Given the description of an element on the screen output the (x, y) to click on. 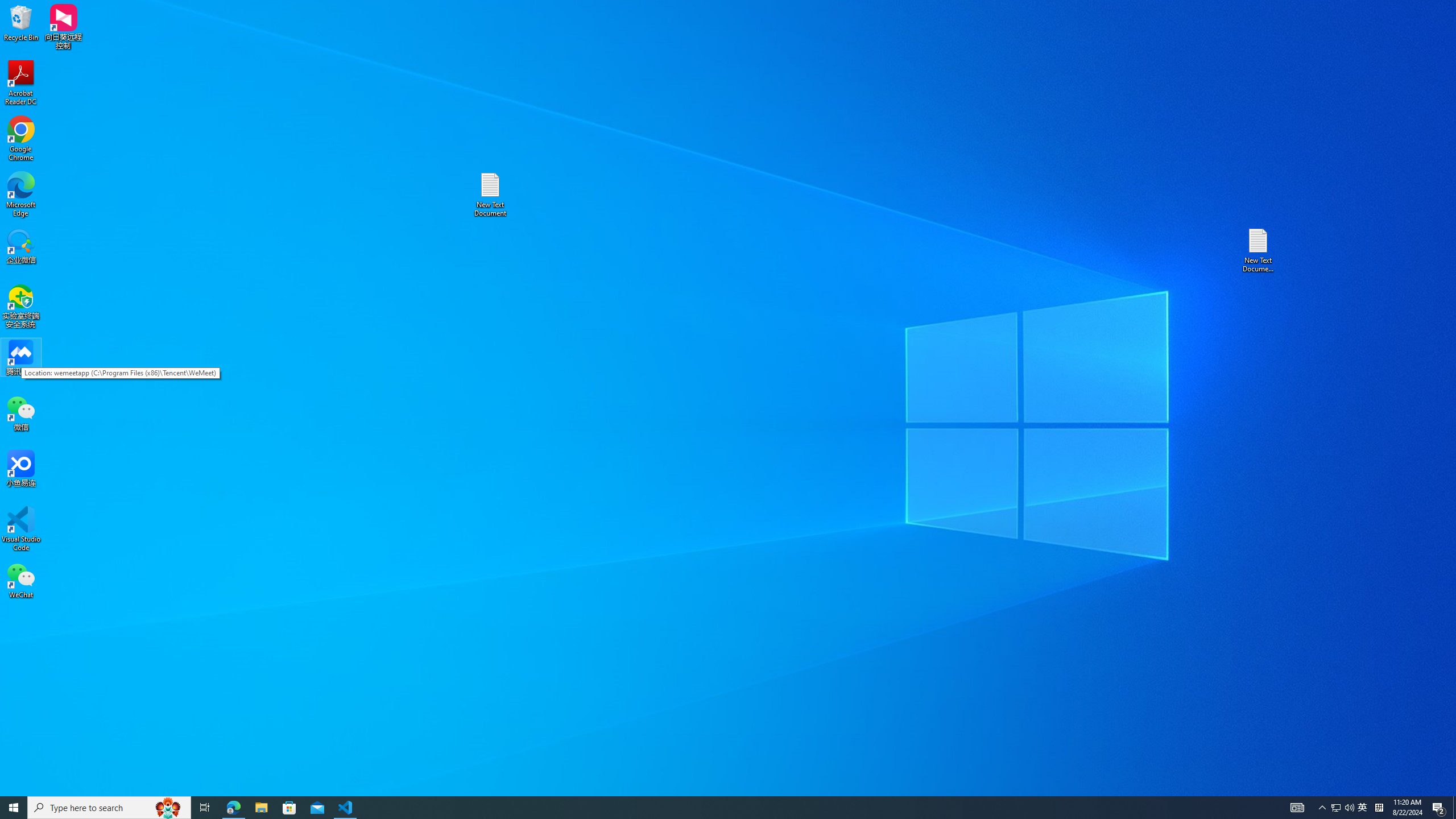
Microsoft Edge (21, 194)
Running applications (707, 807)
Visual Studio Code (21, 528)
New Text Document (1362, 807)
Recycle Bin (489, 194)
